Given the description of an element on the screen output the (x, y) to click on. 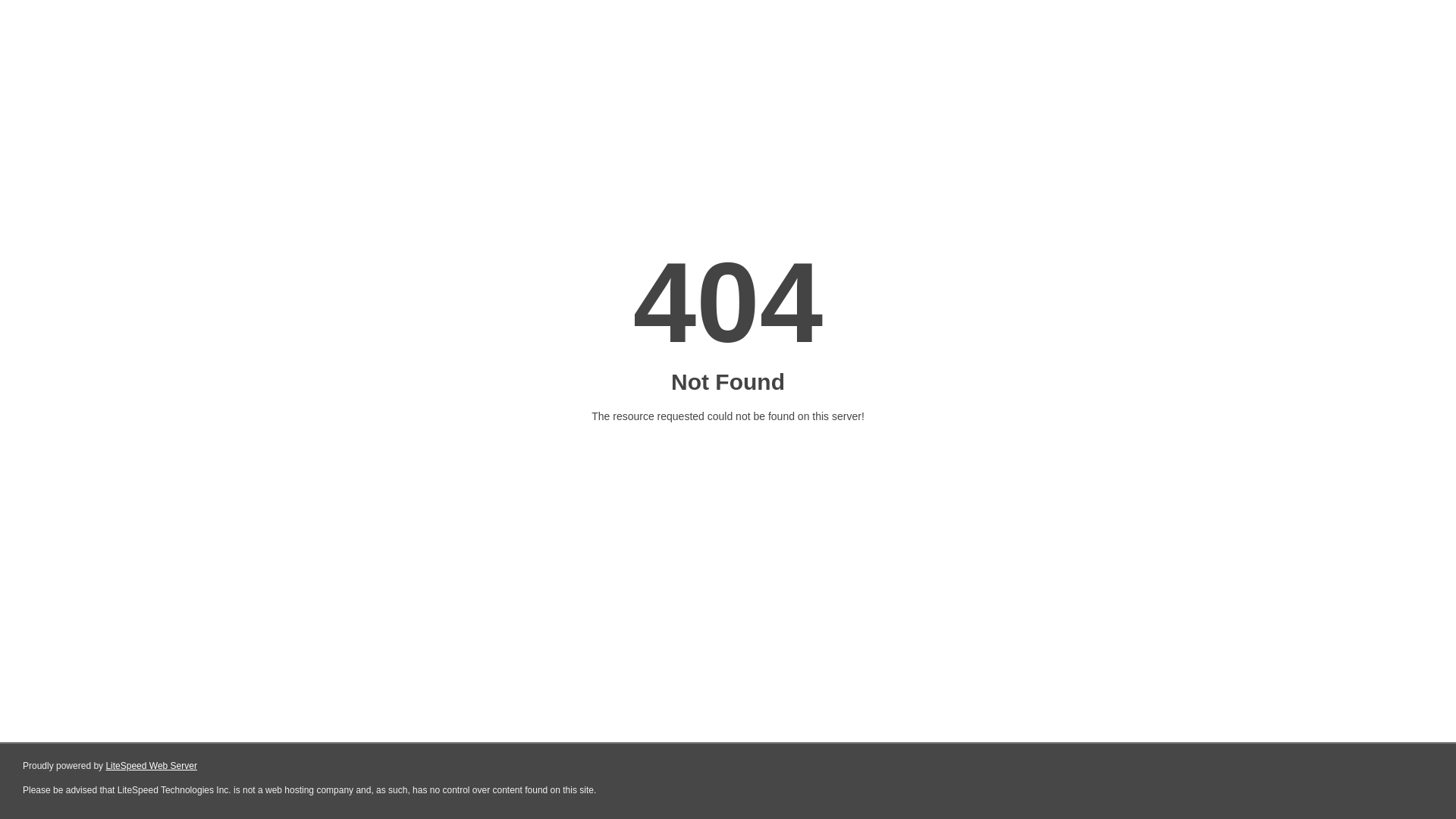
LiteSpeed Web Server Element type: text (151, 765)
